Given the description of an element on the screen output the (x, y) to click on. 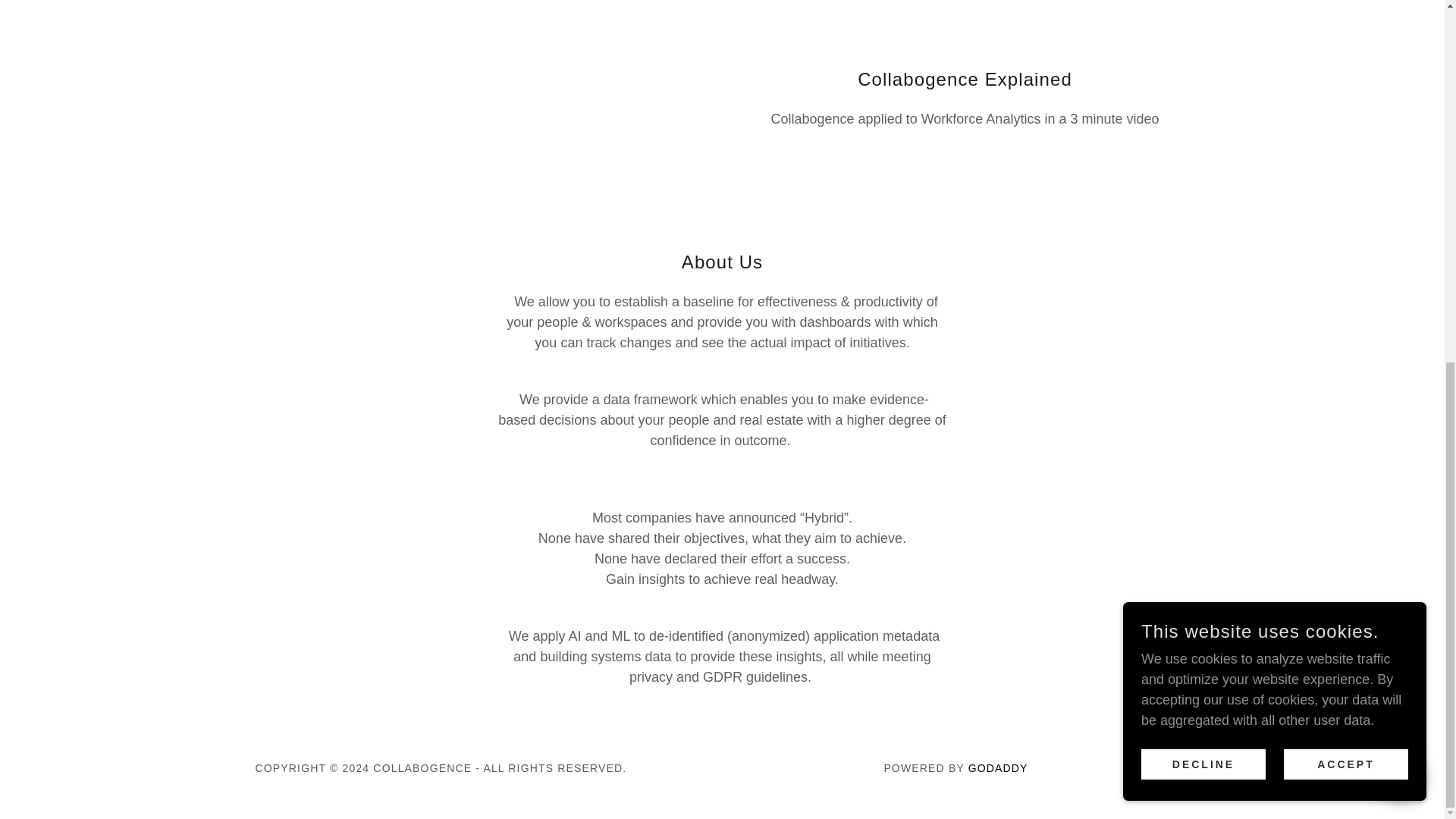
GODADDY (997, 767)
DECLINE (1203, 117)
ACCEPT (1345, 117)
